Given the description of an element on the screen output the (x, y) to click on. 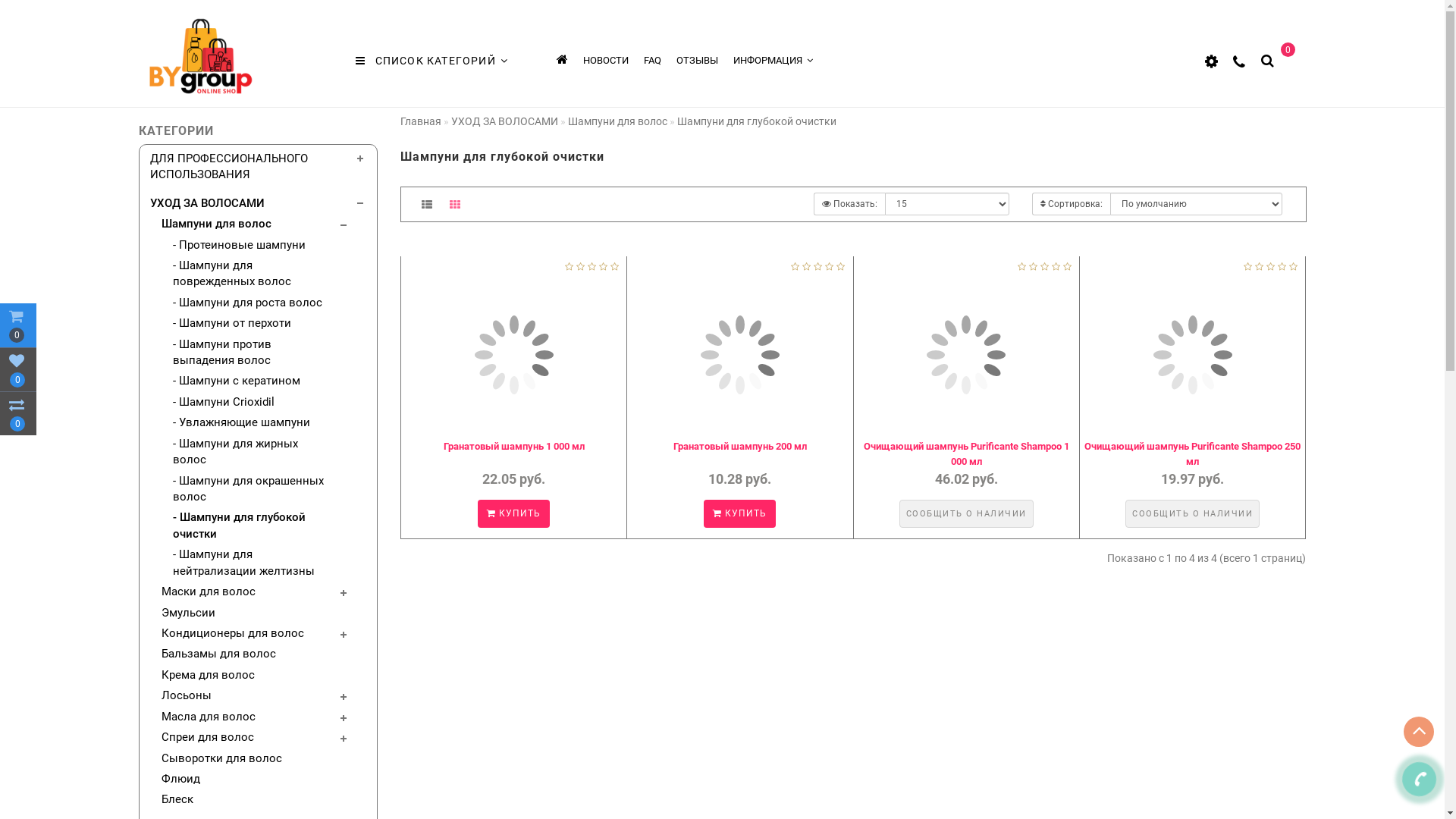
BYgroup Element type: hover (199, 55)
0
  Element type: text (1289, 58)
0 Element type: text (18, 413)
0 Element type: text (18, 369)
FAQ Element type: text (652, 60)
